Given the description of an element on the screen output the (x, y) to click on. 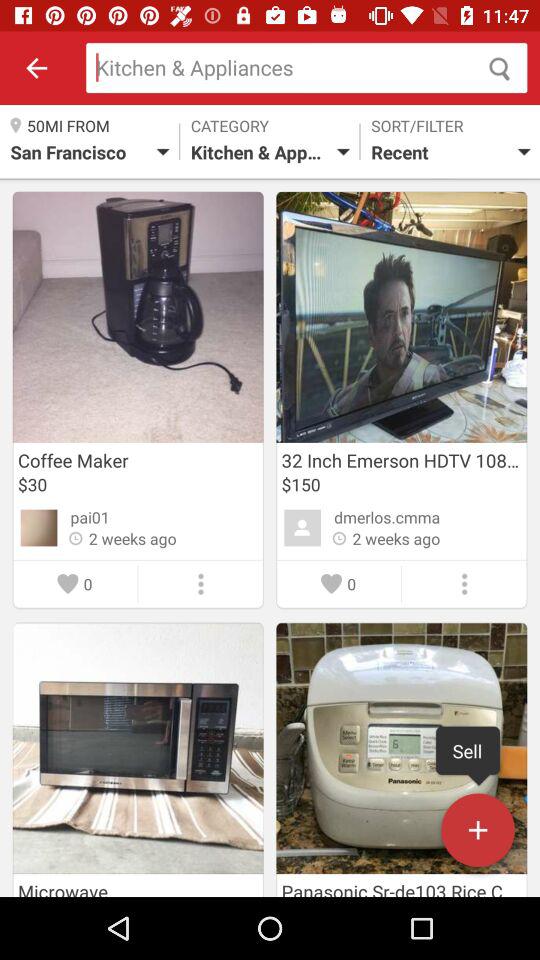
search field (306, 67)
